Given the description of an element on the screen output the (x, y) to click on. 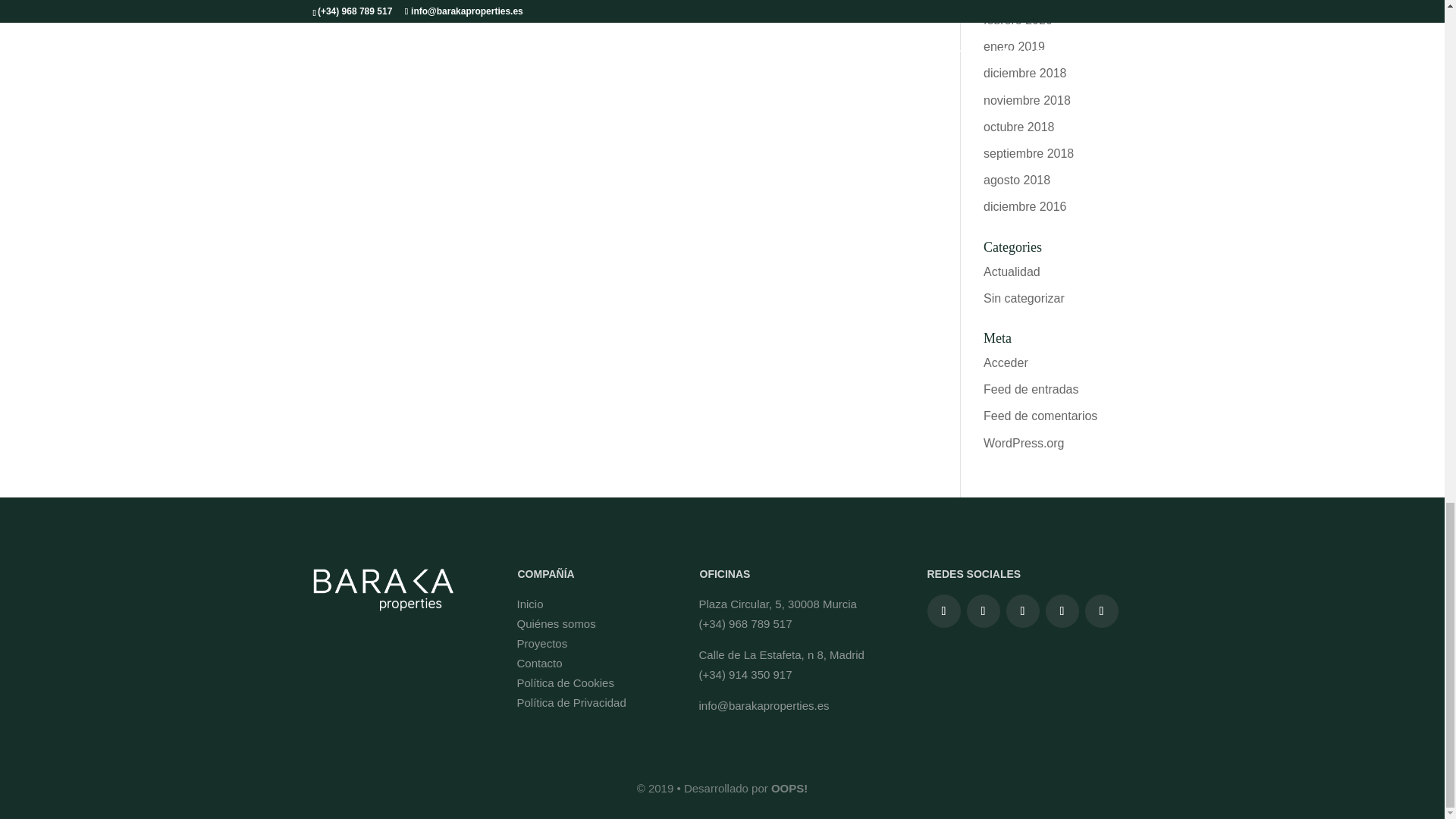
Seguir en Facebook (942, 611)
Seguir en LinkedIn (1061, 611)
Seguir en Twitter (1022, 611)
Seguir en Instagram (982, 611)
Seguir en Youtube (1101, 611)
